Given the description of an element on the screen output the (x, y) to click on. 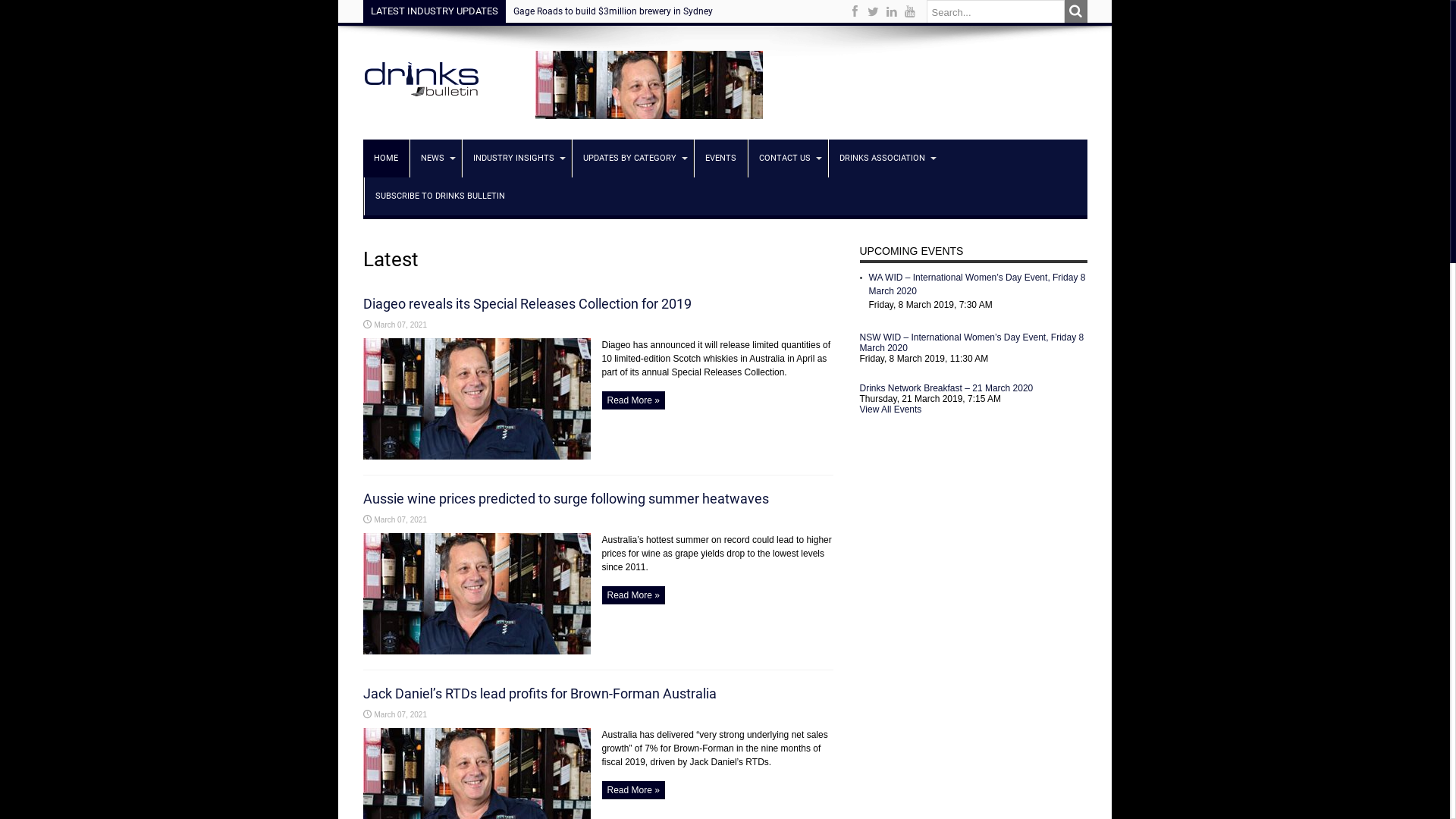
SUBSCRIBE TO DRINKS BULLETIN Element type: text (439, 196)
View All Events Element type: text (890, 409)
INDUSTRY INSIGHTS Element type: text (515, 158)
Diageo reveals its Special Releases Collection for 2019 Element type: text (526, 303)
Diageo reveals its Special Releases Collection for 2019 Element type: hover (475, 456)
NEWS Element type: text (435, 158)
EVENTS Element type: text (719, 158)
UPDATES BY CATEGORY Element type: text (632, 158)
HOME Element type: text (384, 158)
DRINKS ASSOCIATION Element type: text (884, 158)
CONTACT US Element type: text (787, 158)
drinks bulletin Element type: hover (420, 101)
Change of hands for history-rich Subiaco hotel Element type: text (607, 11)
